Given the description of an element on the screen output the (x, y) to click on. 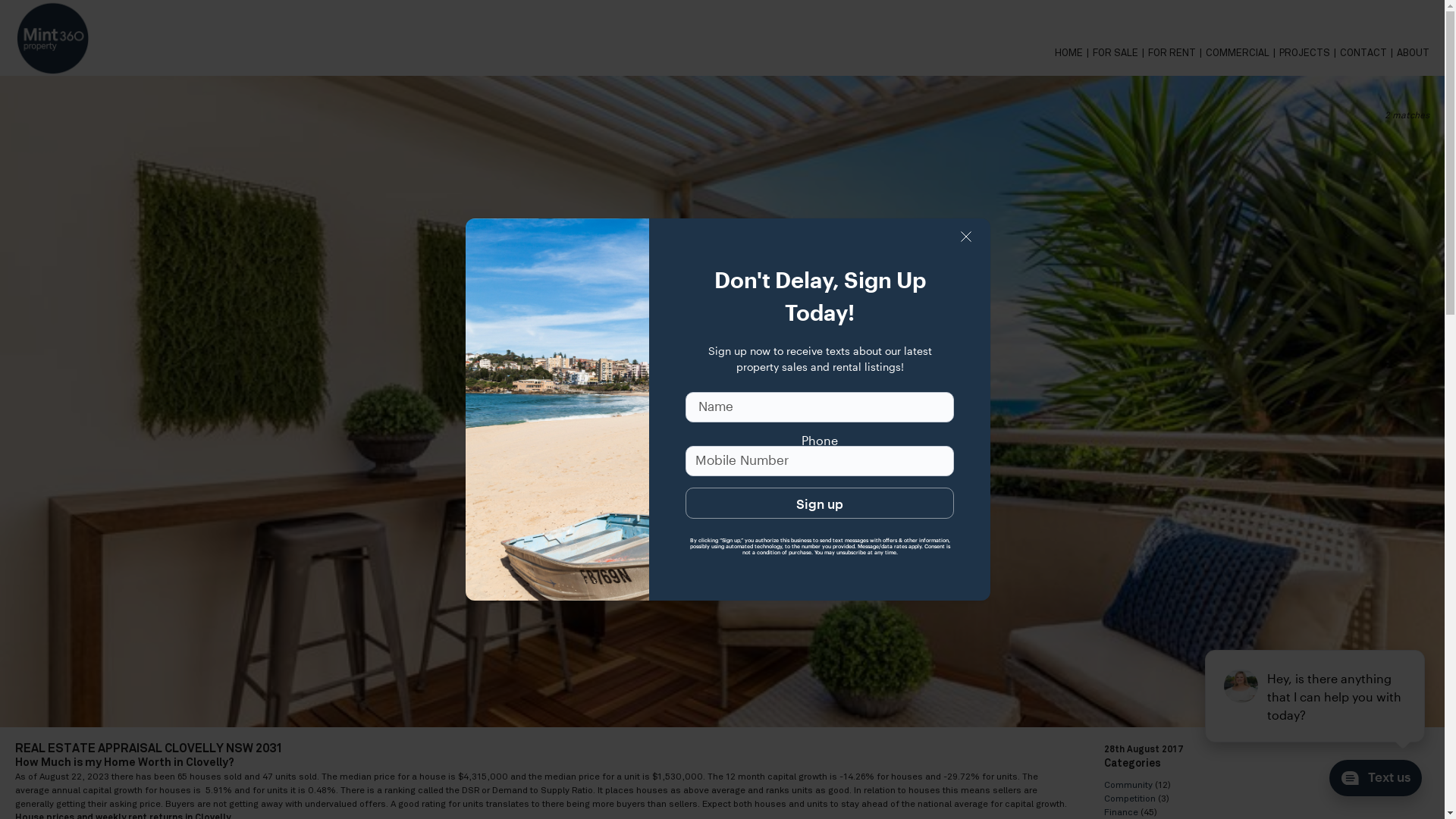
FOR RENT Element type: text (1176, 52)
PROJECTS Element type: text (1309, 52)
Competition Element type: text (1129, 798)
HOME Element type: text (1073, 52)
COMMERCIAL Element type: text (1242, 52)
Community Element type: text (1128, 784)
podium webchat widget prompt Element type: hover (1315, 696)
Mint360property -  Element type: hover (52, 37)
Finance Element type: text (1121, 811)
FOR SALE Element type: text (1120, 52)
CONTACT Element type: text (1367, 52)
ABOUT Element type: text (1412, 52)
